Given the description of an element on the screen output the (x, y) to click on. 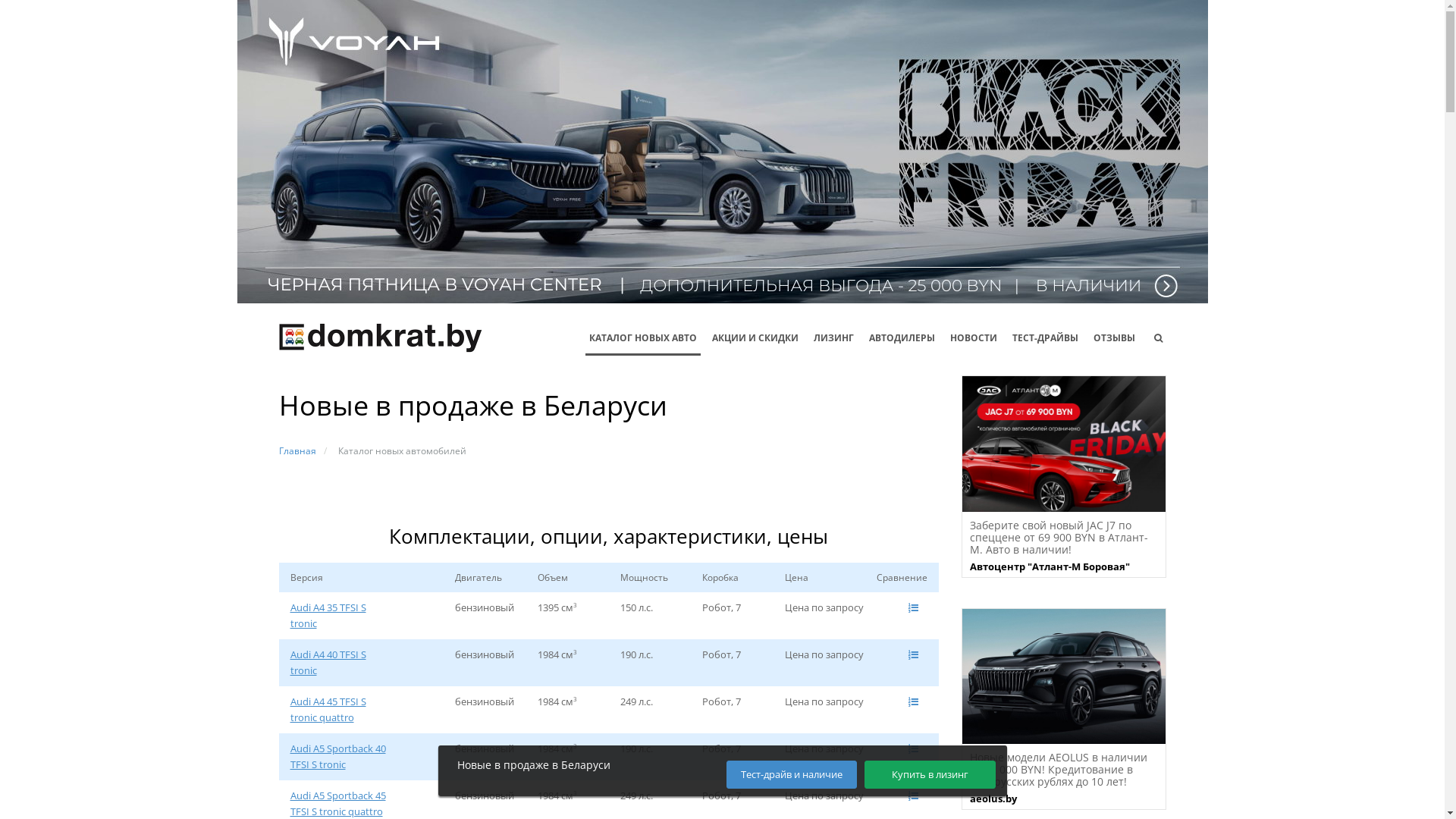
Audi A4 35 TFSI S tronic Element type: text (337, 615)
Audi A4 45 TFSI S tronic quattro Element type: text (337, 709)
Audi A5 Sportback 40 TFSI S tronic Element type: text (337, 756)
Audi A4 40 TFSI S tronic Element type: text (337, 662)
